Given the description of an element on the screen output the (x, y) to click on. 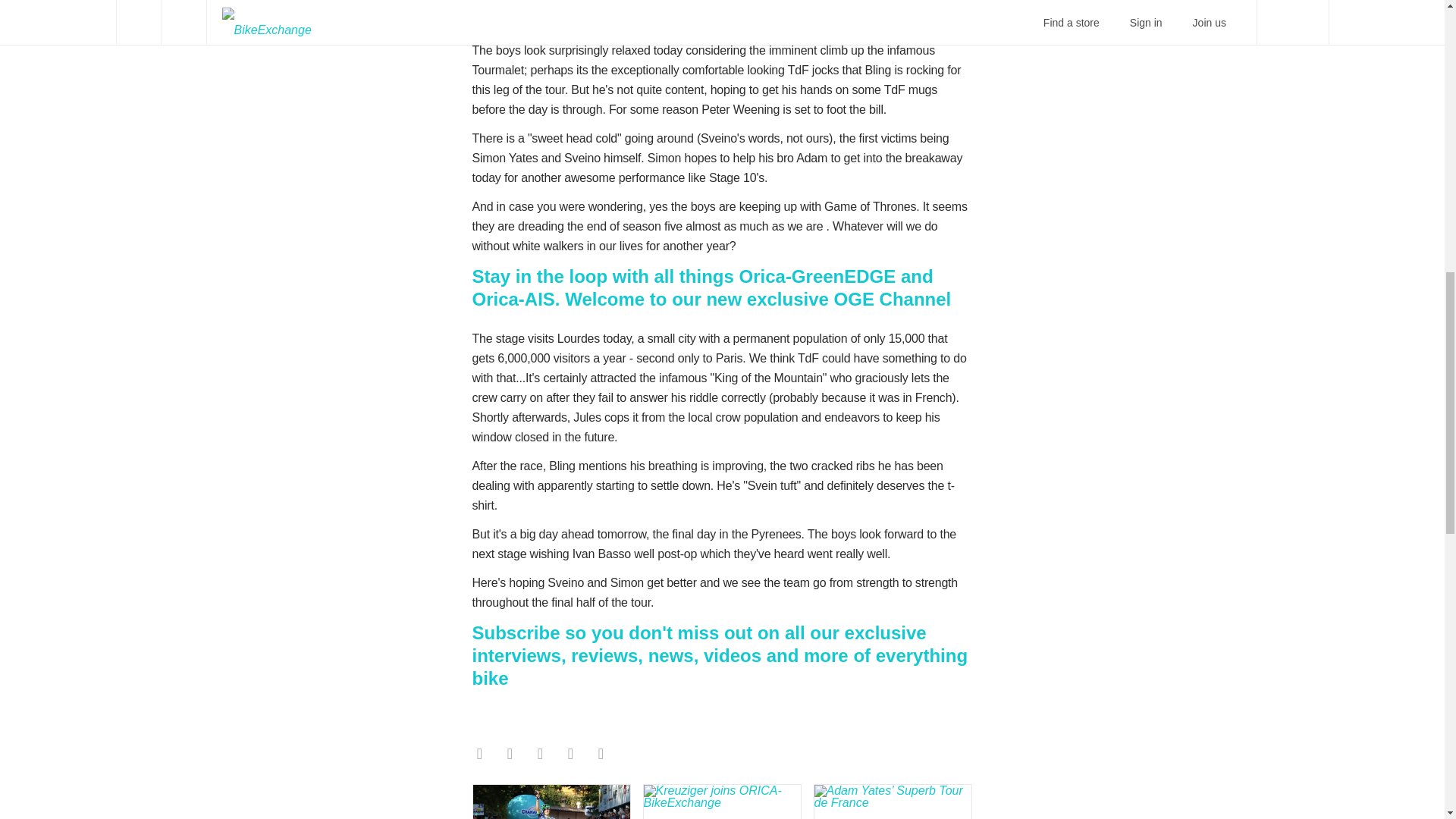
Share on Twitter (509, 753)
Share on Pinterest (569, 753)
Share on Linked In (600, 753)
Email to Friend (539, 753)
Share on facebook (479, 753)
